Given the description of an element on the screen output the (x, y) to click on. 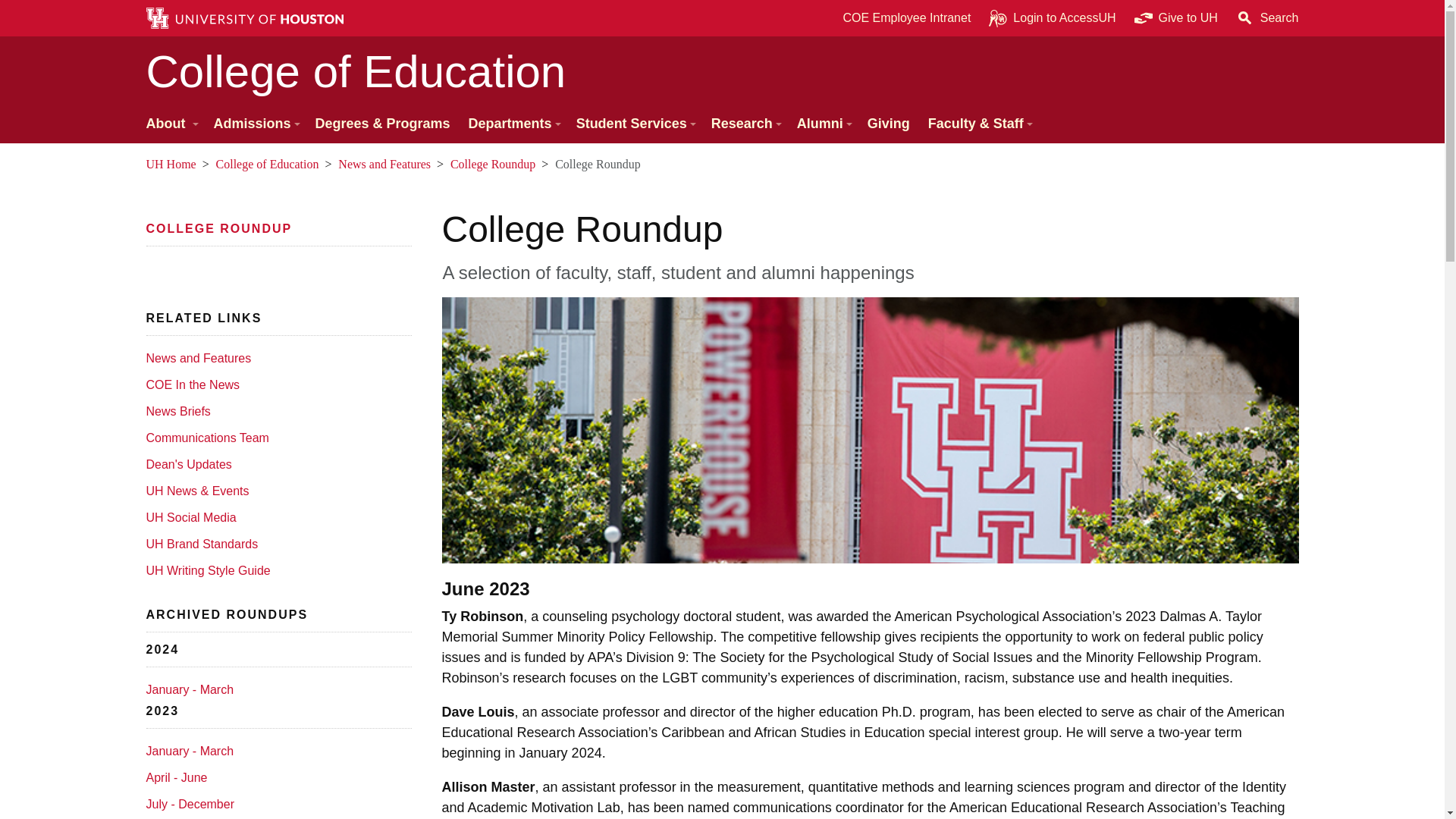
Student Services (634, 123)
Search (1267, 18)
About (169, 123)
University of Houston (154, 517)
University of Houston (1208, 17)
College of Education (721, 71)
University of Houston (154, 543)
News and Features (274, 357)
COE Employee Intranet (905, 18)
College Roundup (274, 411)
University of Houston (154, 570)
College Roundup (218, 228)
Departments (513, 123)
Login to AccessUH (1051, 18)
Give to UH (1176, 18)
